Given the description of an element on the screen output the (x, y) to click on. 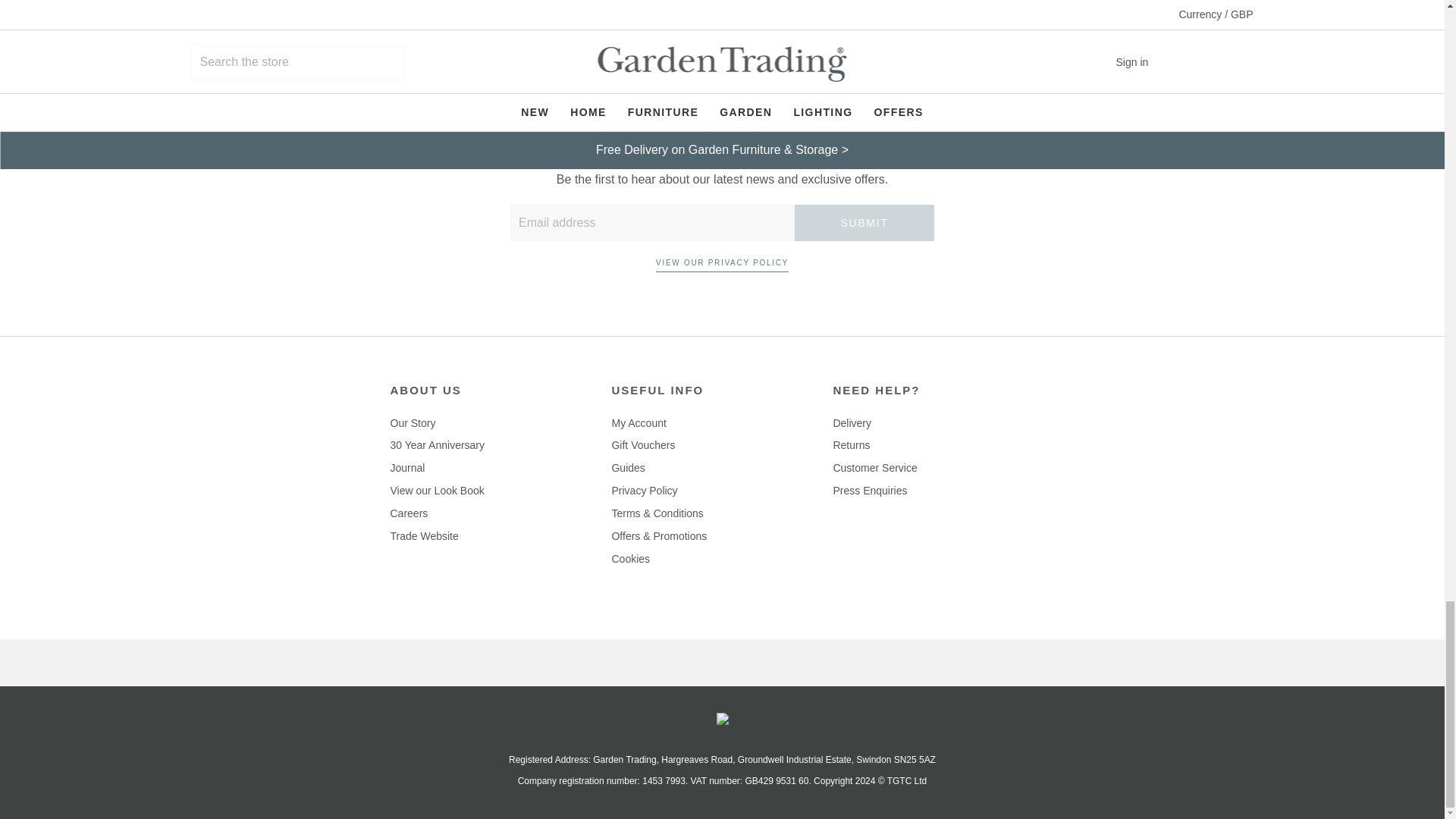
Submit (864, 222)
